Given the description of an element on the screen output the (x, y) to click on. 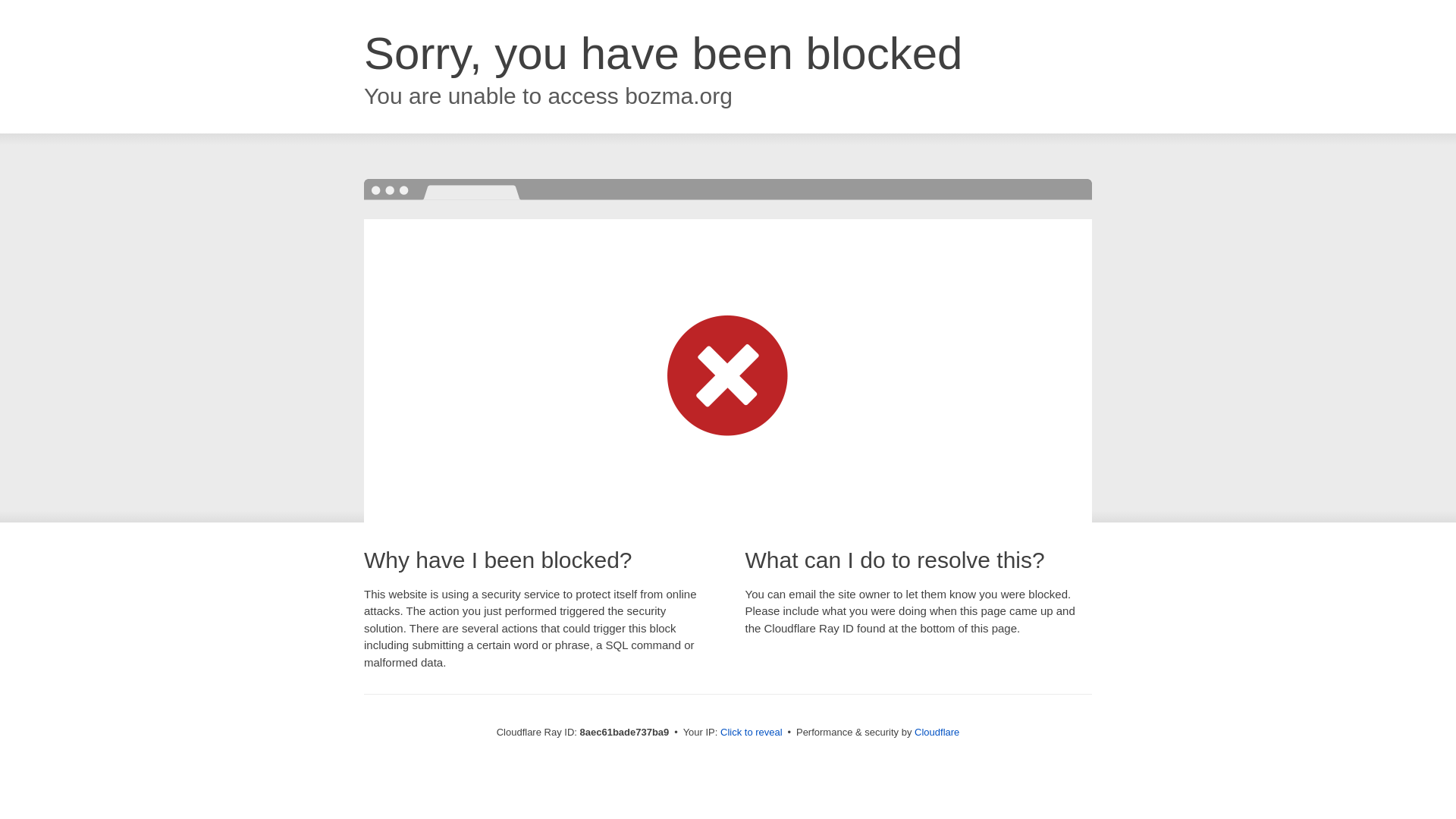
Cloudflare (936, 731)
Click to reveal (751, 732)
